Given the description of an element on the screen output the (x, y) to click on. 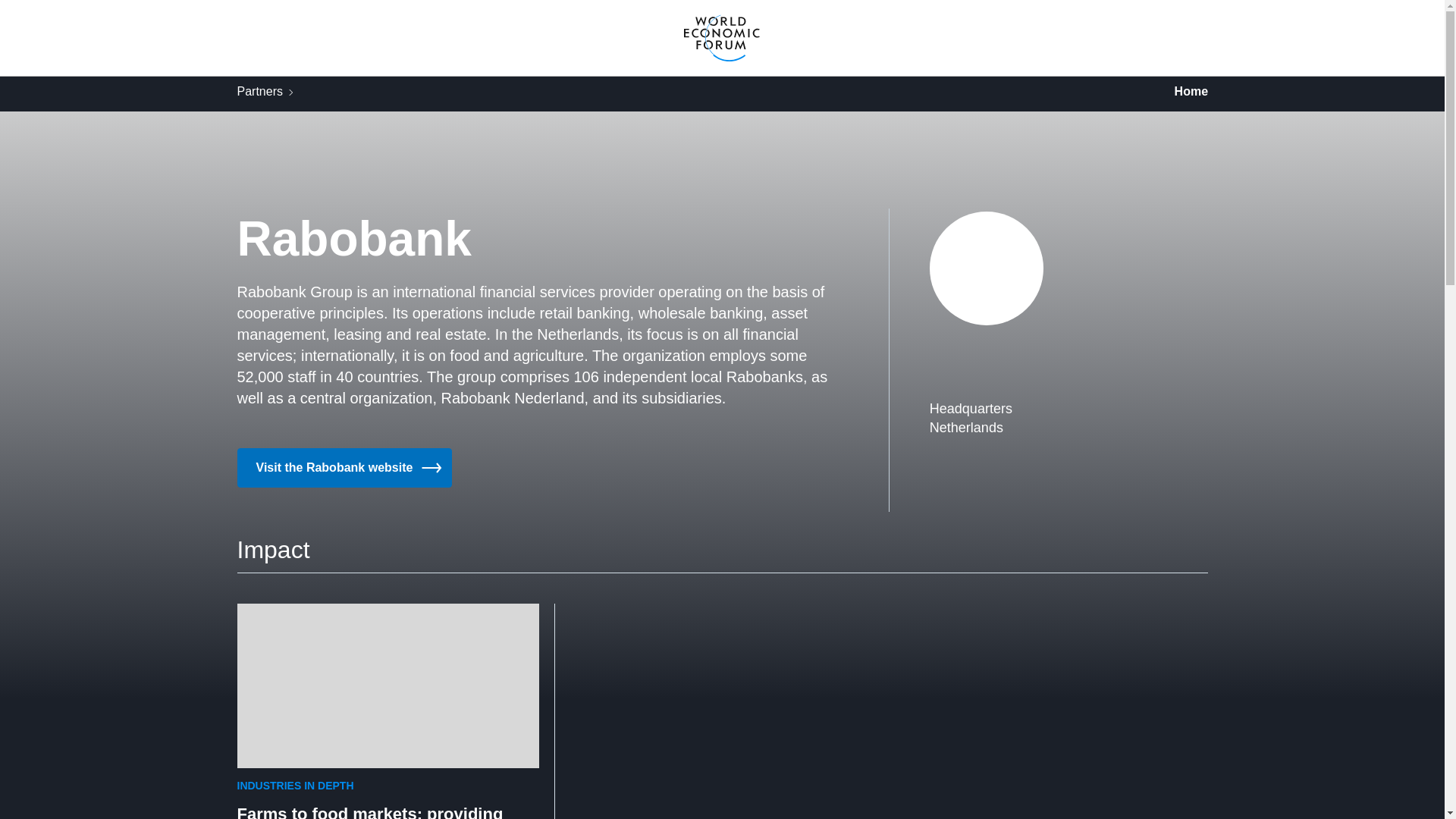
Partners (258, 93)
Home (1191, 93)
Visit the Rabobank website (343, 467)
